Given the description of an element on the screen output the (x, y) to click on. 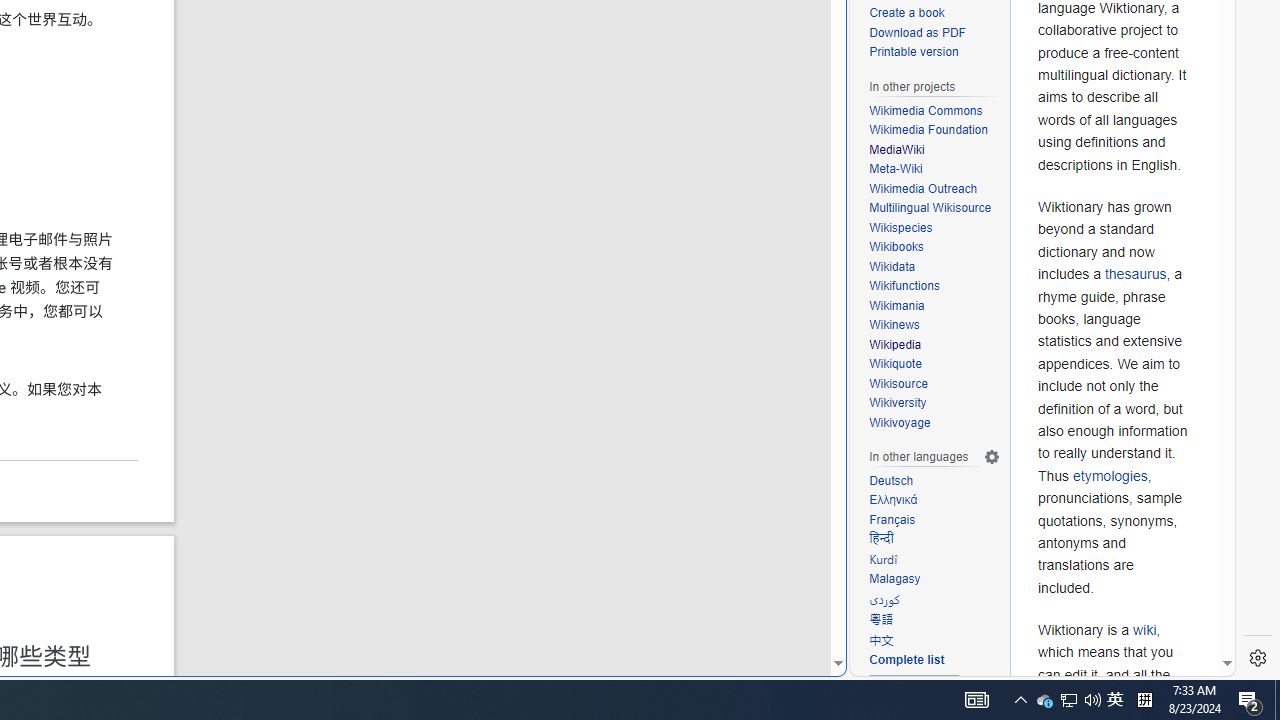
Meta-Wiki (895, 169)
Wikimedia Outreach (923, 187)
Malagasy (895, 578)
Wikimedia Foundation (934, 130)
wiki (1144, 630)
Wikibooks (934, 247)
Deutsch (891, 480)
Wikivoyage (899, 421)
Malagasy (934, 579)
Wikibooks (896, 246)
Printable version (934, 53)
Create a book (906, 12)
